Given the description of an element on the screen output the (x, y) to click on. 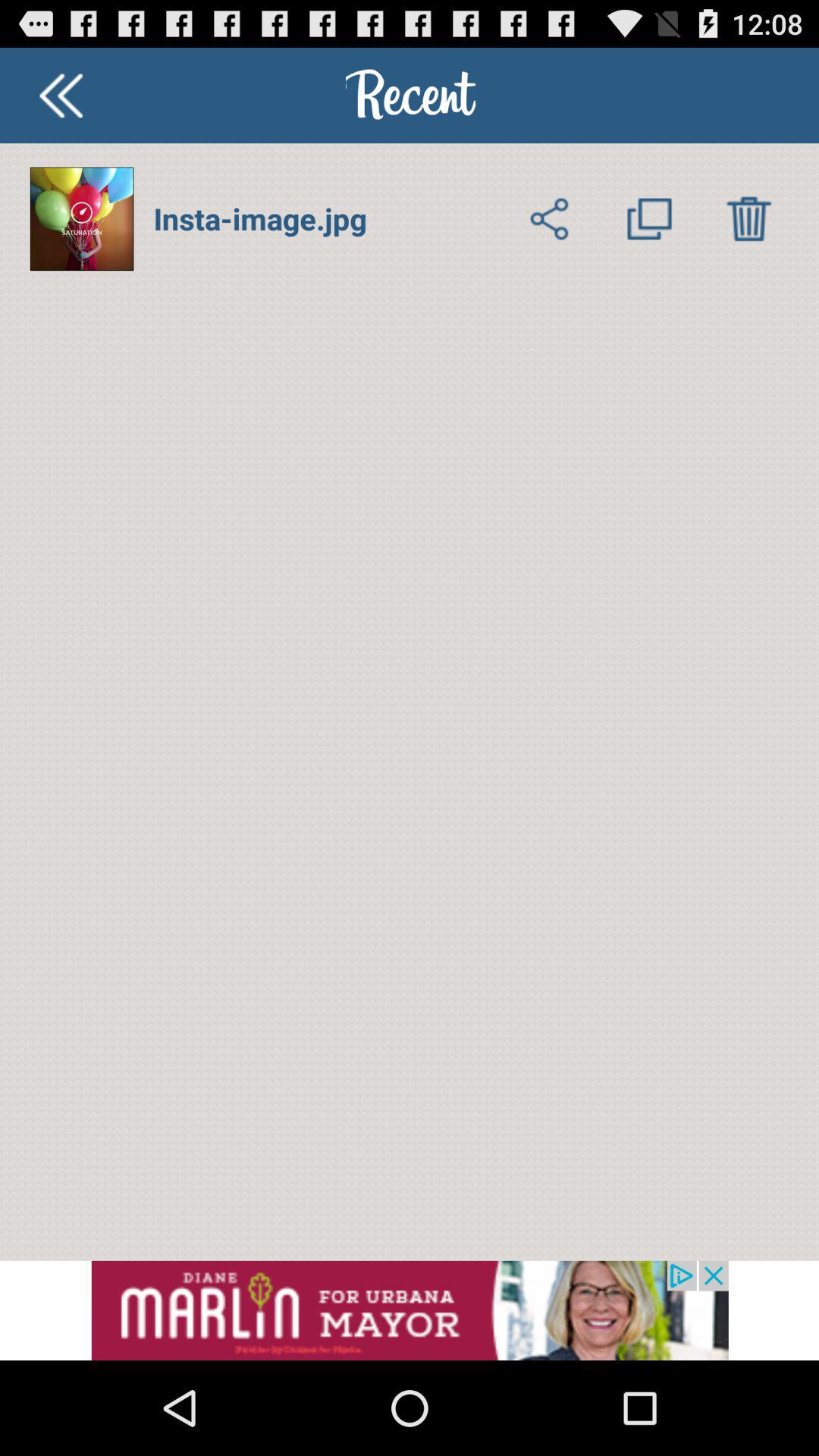
delete image (748, 218)
